Given the description of an element on the screen output the (x, y) to click on. 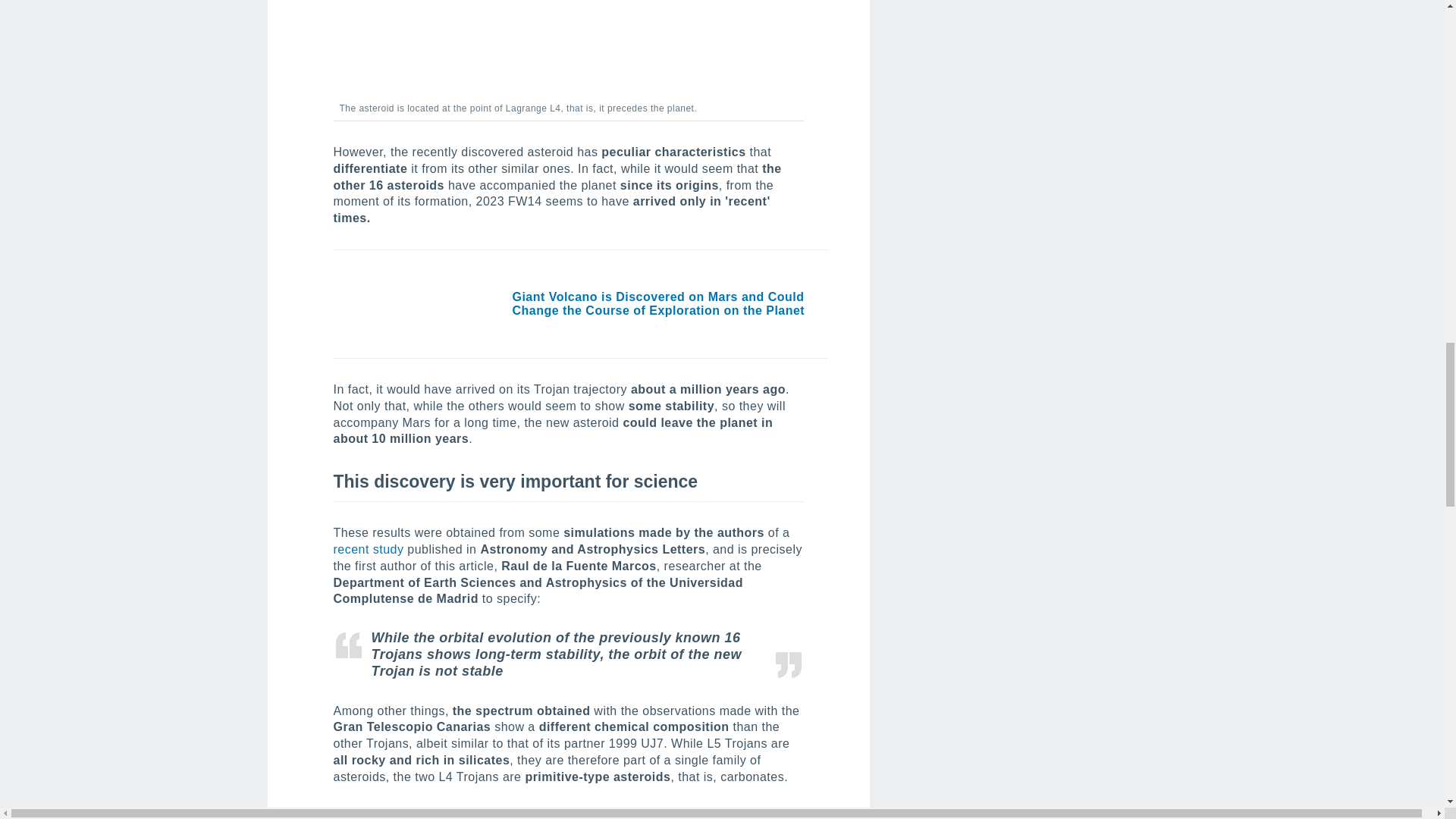
recent study (370, 549)
Mars asteroid (568, 48)
